Given the description of an element on the screen output the (x, y) to click on. 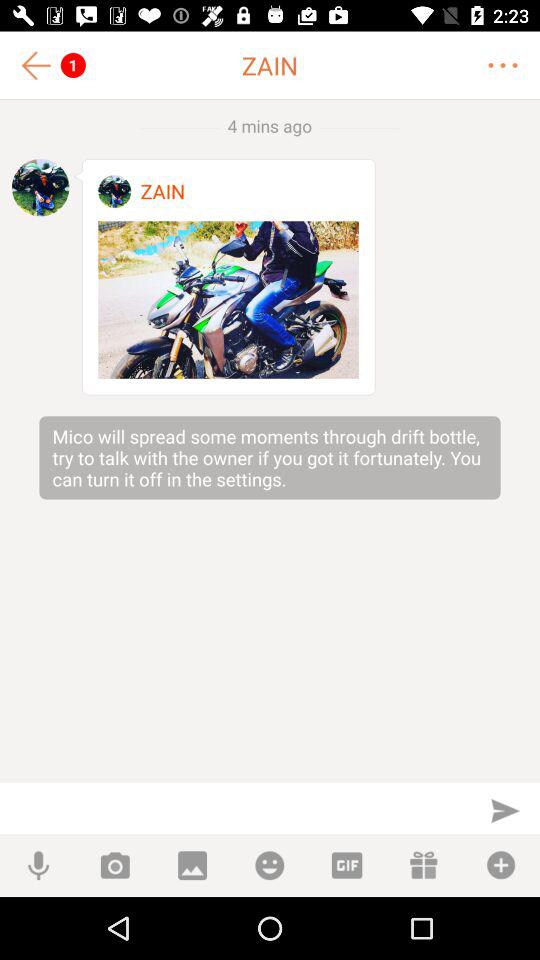
turn off item below the mico will spread app (505, 809)
